Given the description of an element on the screen output the (x, y) to click on. 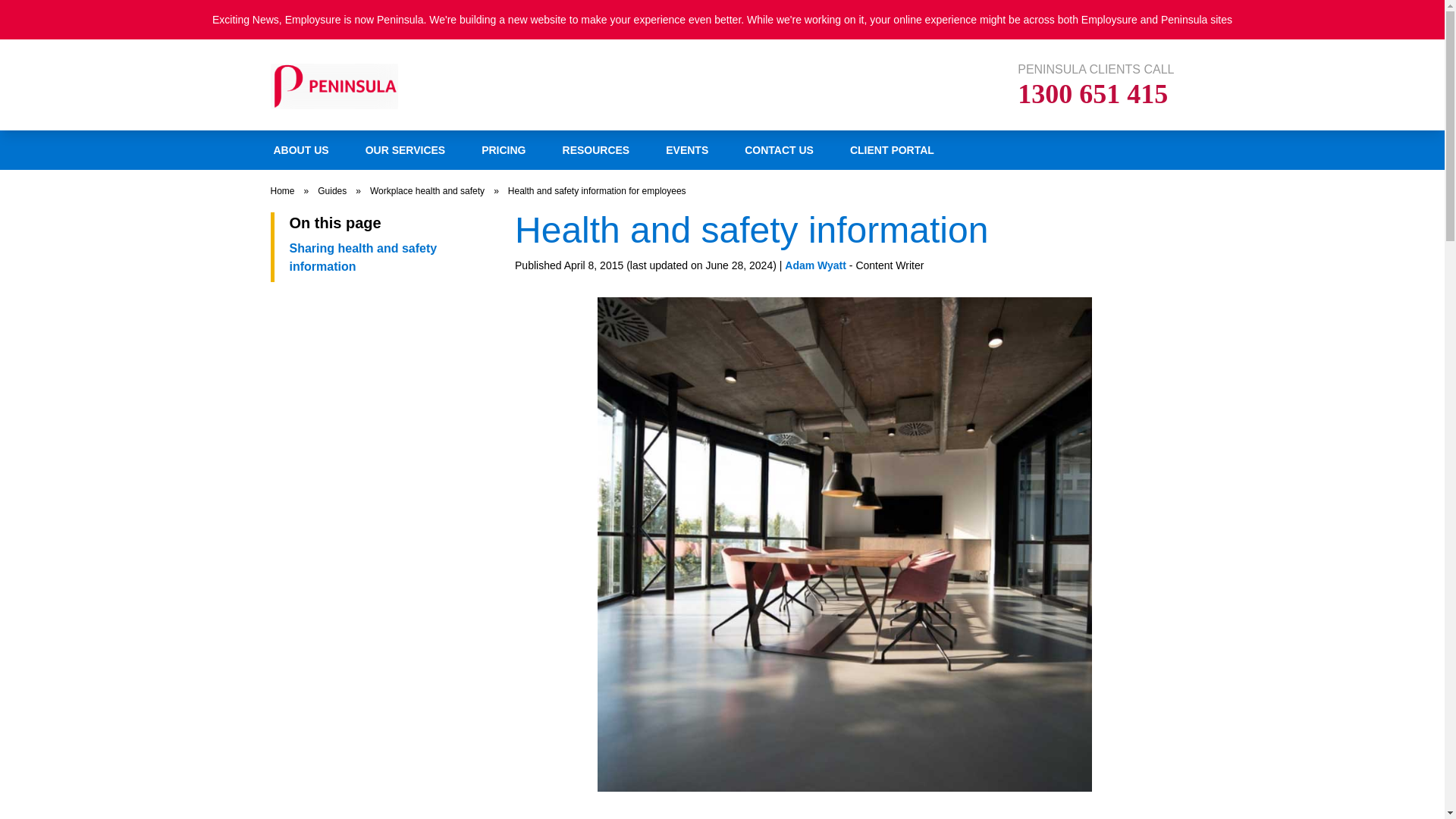
EVENTS (686, 149)
PRICING (1095, 84)
